Given the description of an element on the screen output the (x, y) to click on. 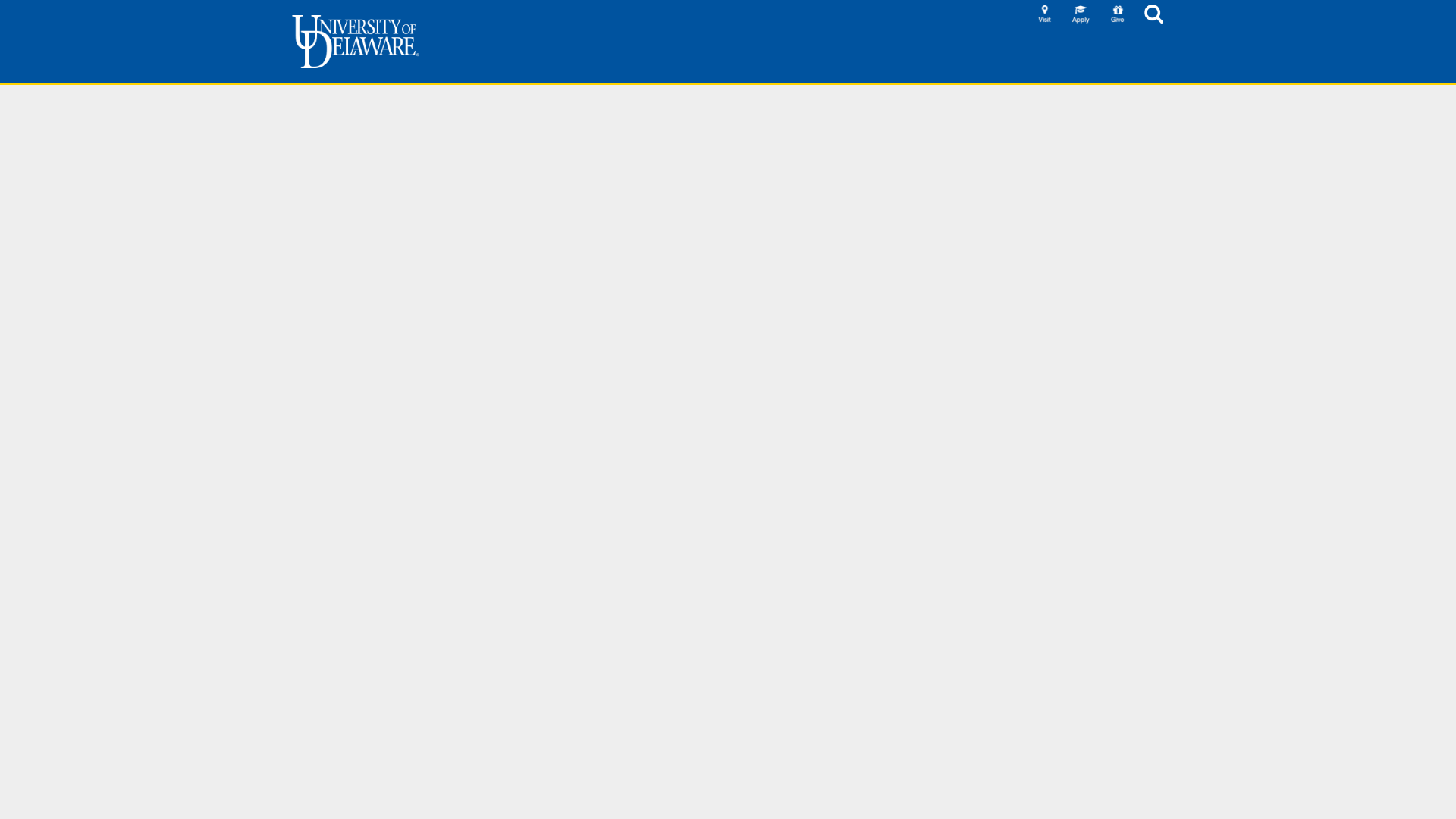
Give (1117, 13)
Visit (1044, 13)
University of Delaware (355, 41)
Apply (1080, 13)
Search (1153, 13)
